Given the description of an element on the screen output the (x, y) to click on. 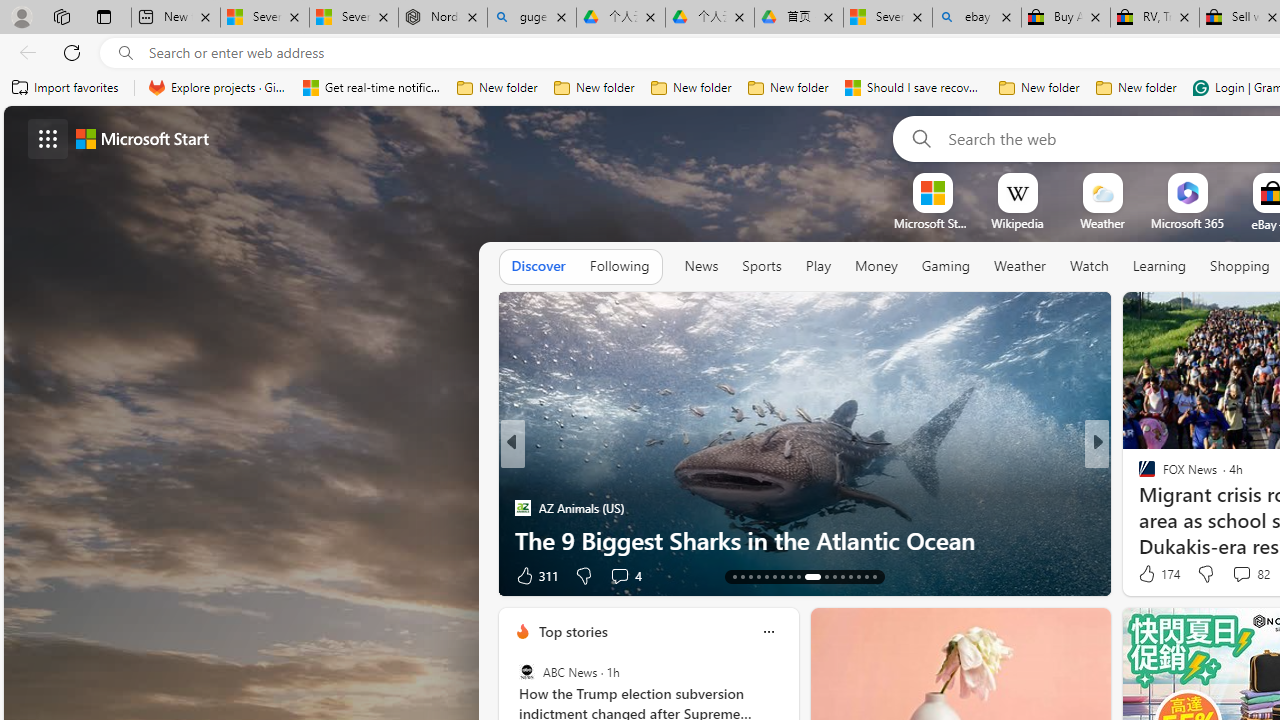
Start the conversation (1211, 575)
Ad (1142, 575)
Class: control (47, 138)
View comments 2 Comment (1234, 574)
Should I save recovered Word documents? - Microsoft Support (913, 88)
AutomationID: tab-16 (757, 576)
Weather (1019, 267)
Ad Choice (479, 575)
Wikipedia (1017, 223)
Shopping (1240, 265)
AutomationID: tab-26 (850, 576)
View comments 10 Comment (1229, 575)
View comments 19 Comment (1229, 575)
